Given the description of an element on the screen output the (x, y) to click on. 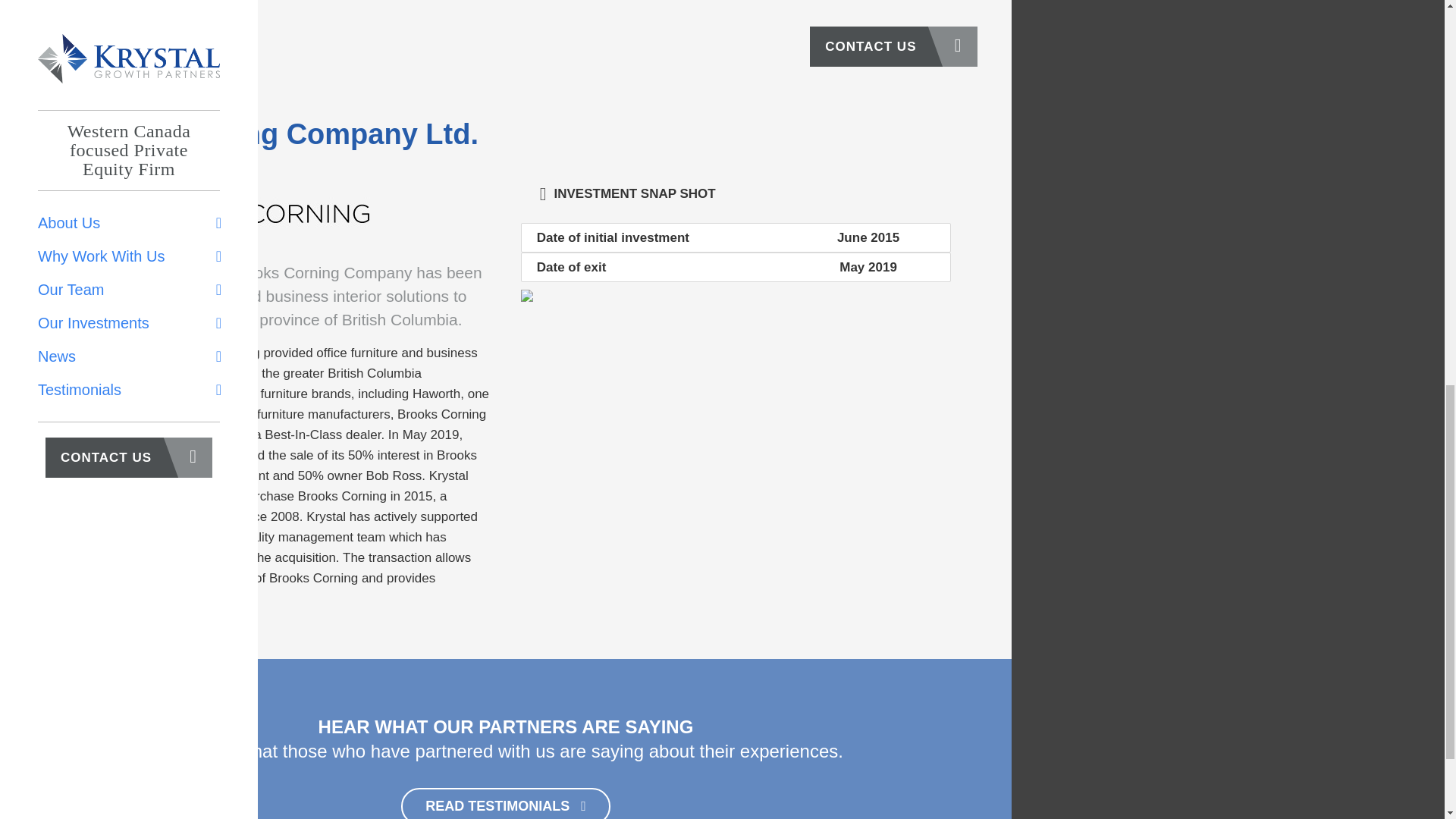
READ TESTIMONIALS (505, 803)
CONTACT US (892, 46)
